Given the description of an element on the screen output the (x, y) to click on. 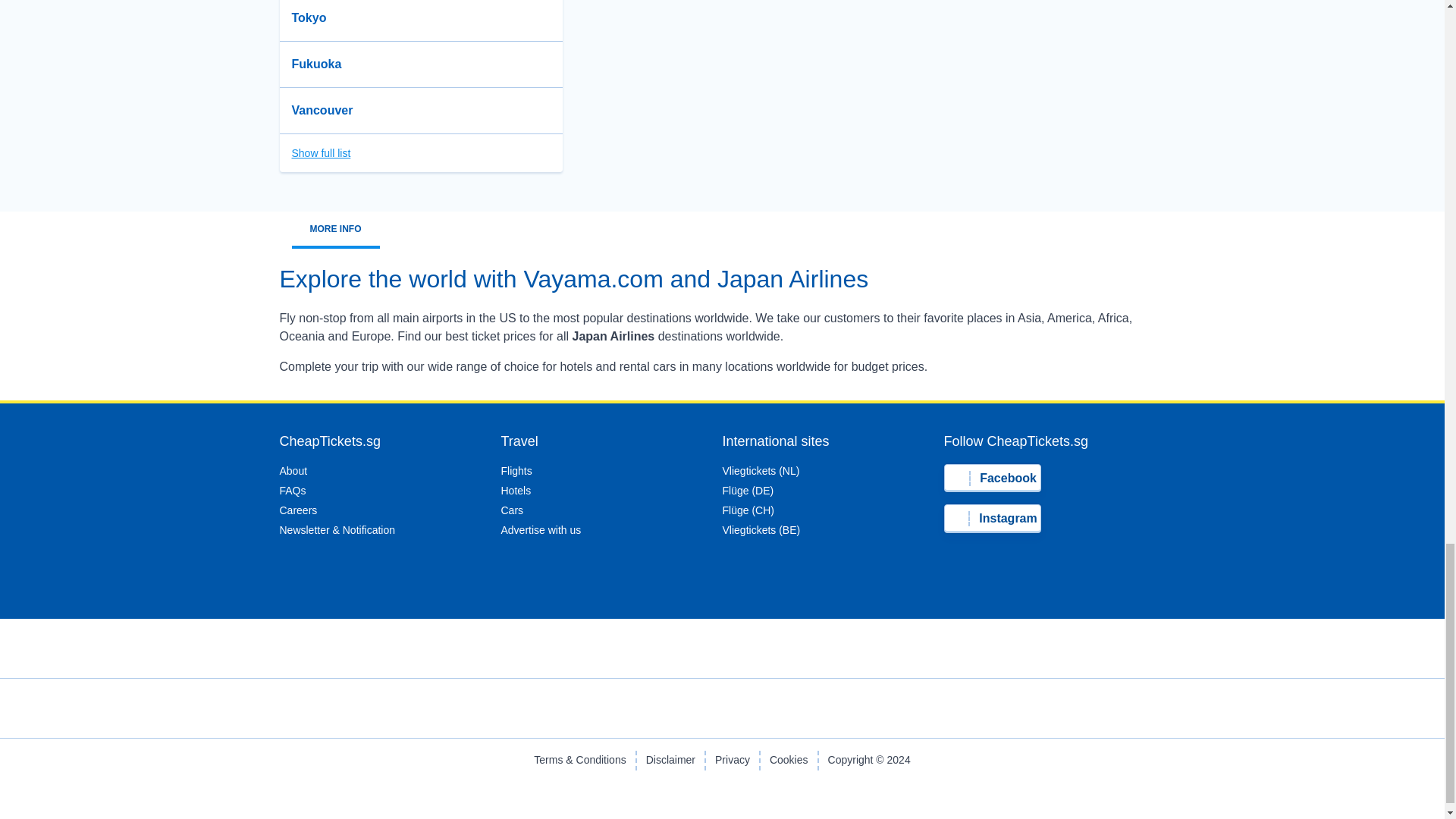
Cookies (789, 760)
Disclaimer (670, 760)
Careers (298, 510)
About (293, 470)
Cars (511, 510)
Privacy (731, 760)
FAQs (292, 490)
Hotels (515, 490)
Flights (515, 470)
Advertise with us (540, 530)
